Given the description of an element on the screen output the (x, y) to click on. 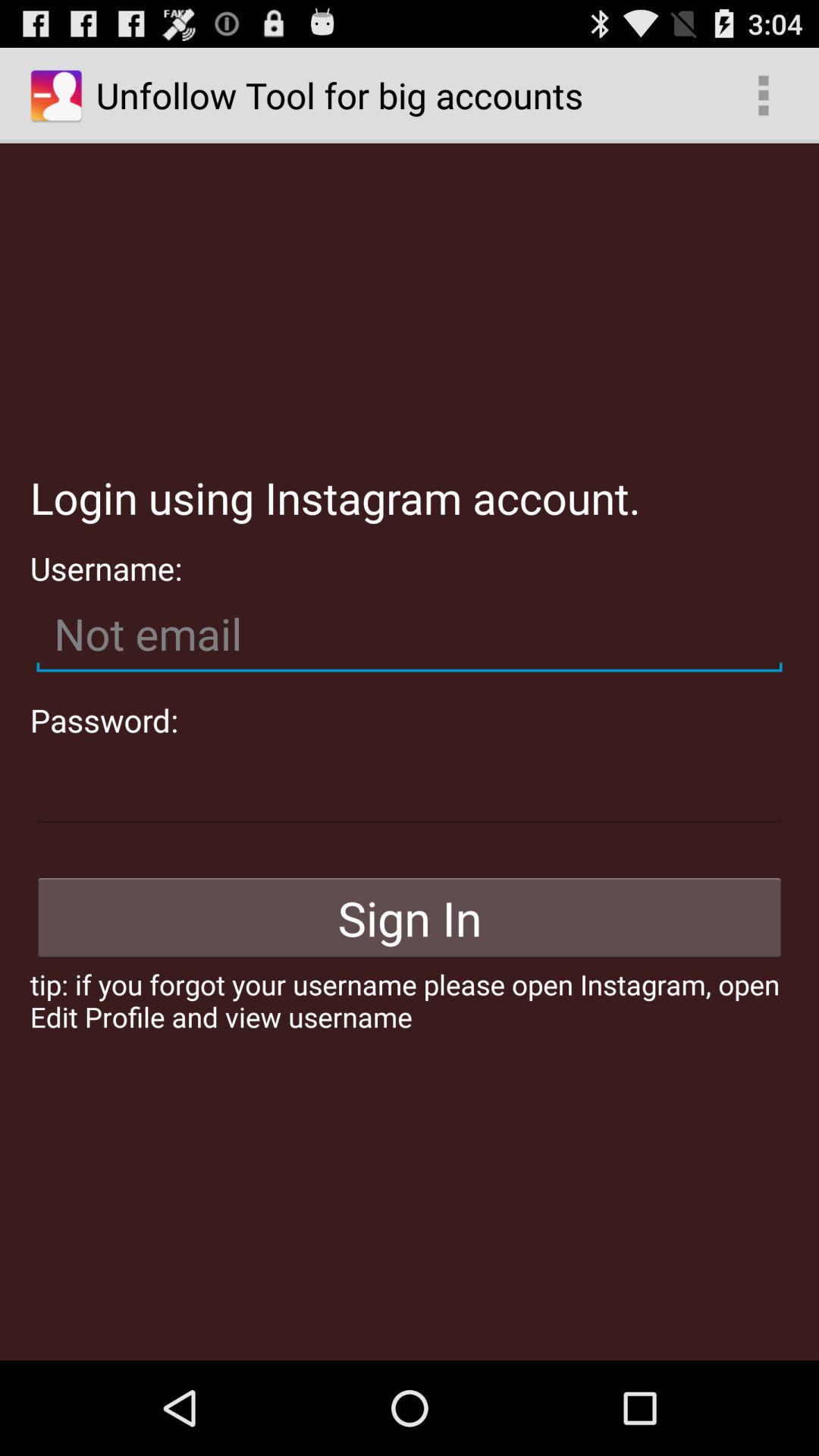
enter your instagram password (409, 785)
